Given the description of an element on the screen output the (x, y) to click on. 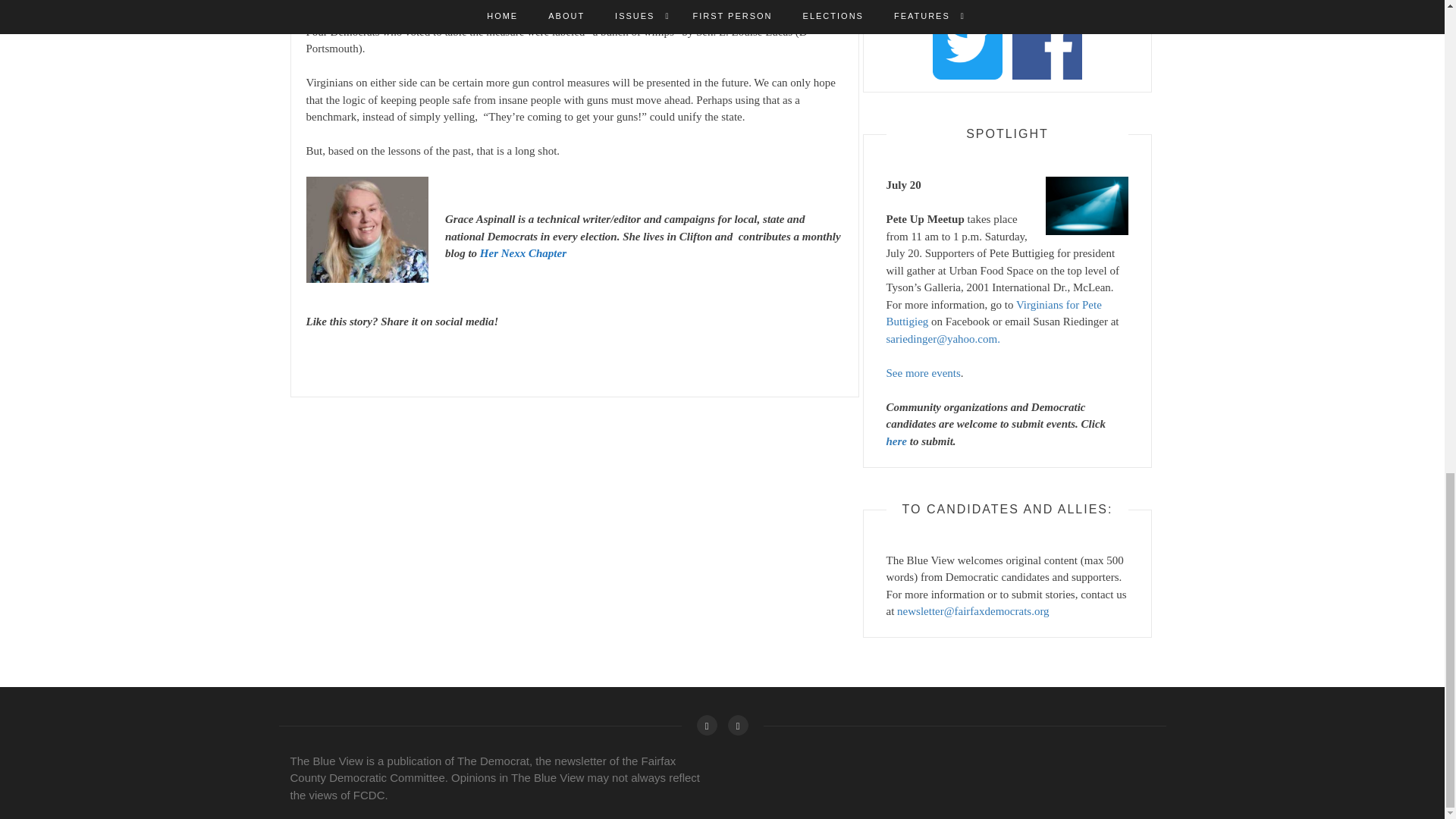
Her Nexx Chapter (523, 253)
Facebook (705, 724)
Twitter (738, 724)
See more events (922, 372)
Virginians for Pete Buttigieg (992, 312)
here (896, 440)
